Given the description of an element on the screen output the (x, y) to click on. 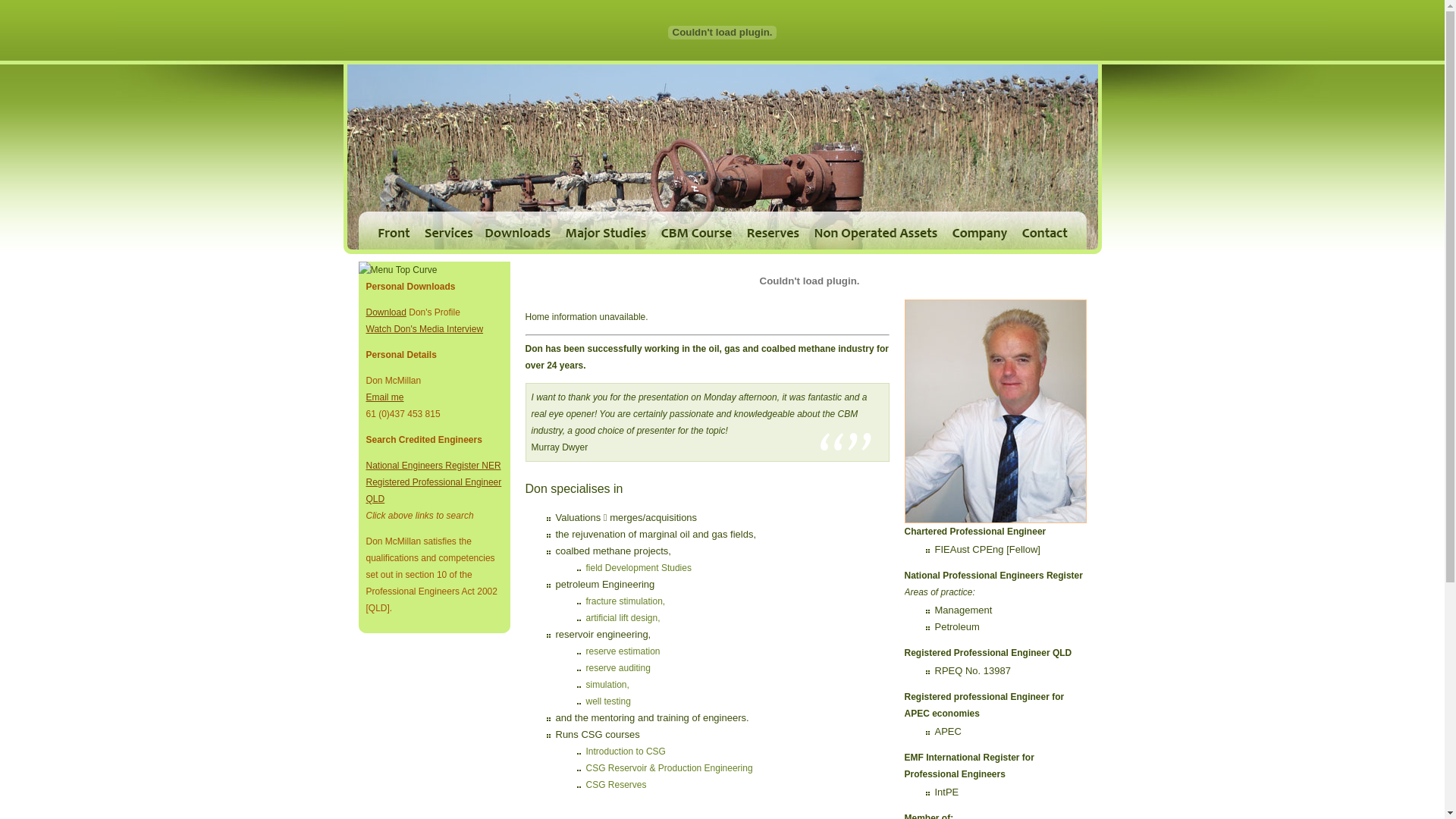
cbm course Element type: text (696, 230)
front Element type: text (387, 230)
Registered Professional Engineer QLD Element type: text (433, 490)
reserves Element type: text (772, 230)
non operated assets Element type: text (875, 230)
Email me Element type: text (384, 397)
major studies Element type: text (605, 230)
Download Element type: text (385, 312)
National Engineers Register NER Element type: text (432, 465)
Watch Don's Media Interview Element type: text (424, 328)
company - don mcmillan Element type: text (979, 230)
downloads Element type: text (517, 230)
services Element type: text (447, 230)
contact us Element type: text (1049, 230)
